Given the description of an element on the screen output the (x, y) to click on. 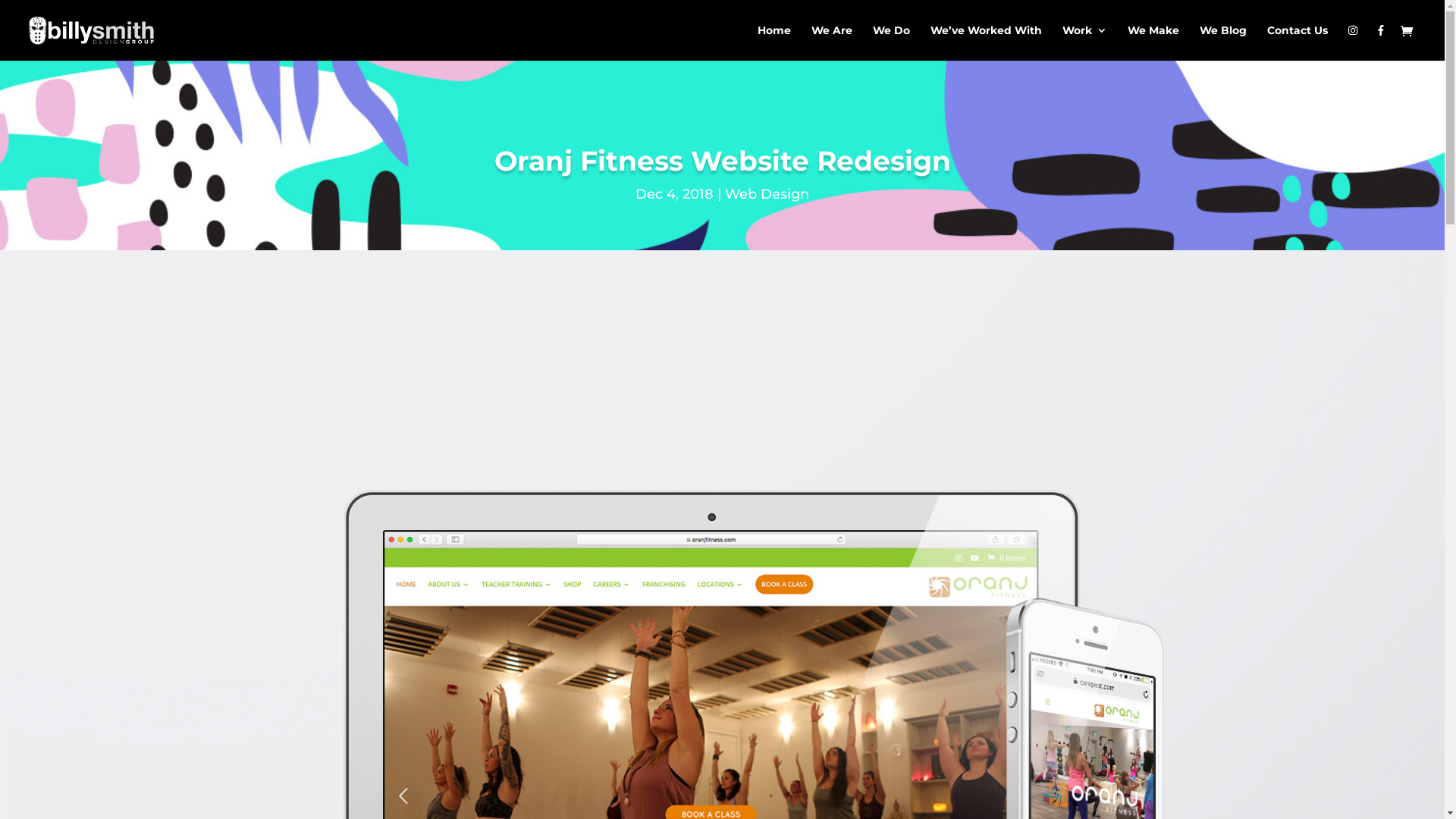
Work Element type: text (1084, 42)
We Do Element type: text (891, 42)
We Make Element type: text (1153, 42)
Web Design Element type: text (766, 193)
Contact Us Element type: text (1297, 42)
We Are Element type: text (831, 42)
We Blog Element type: text (1222, 42)
Home Element type: text (773, 42)
